Given the description of an element on the screen output the (x, y) to click on. 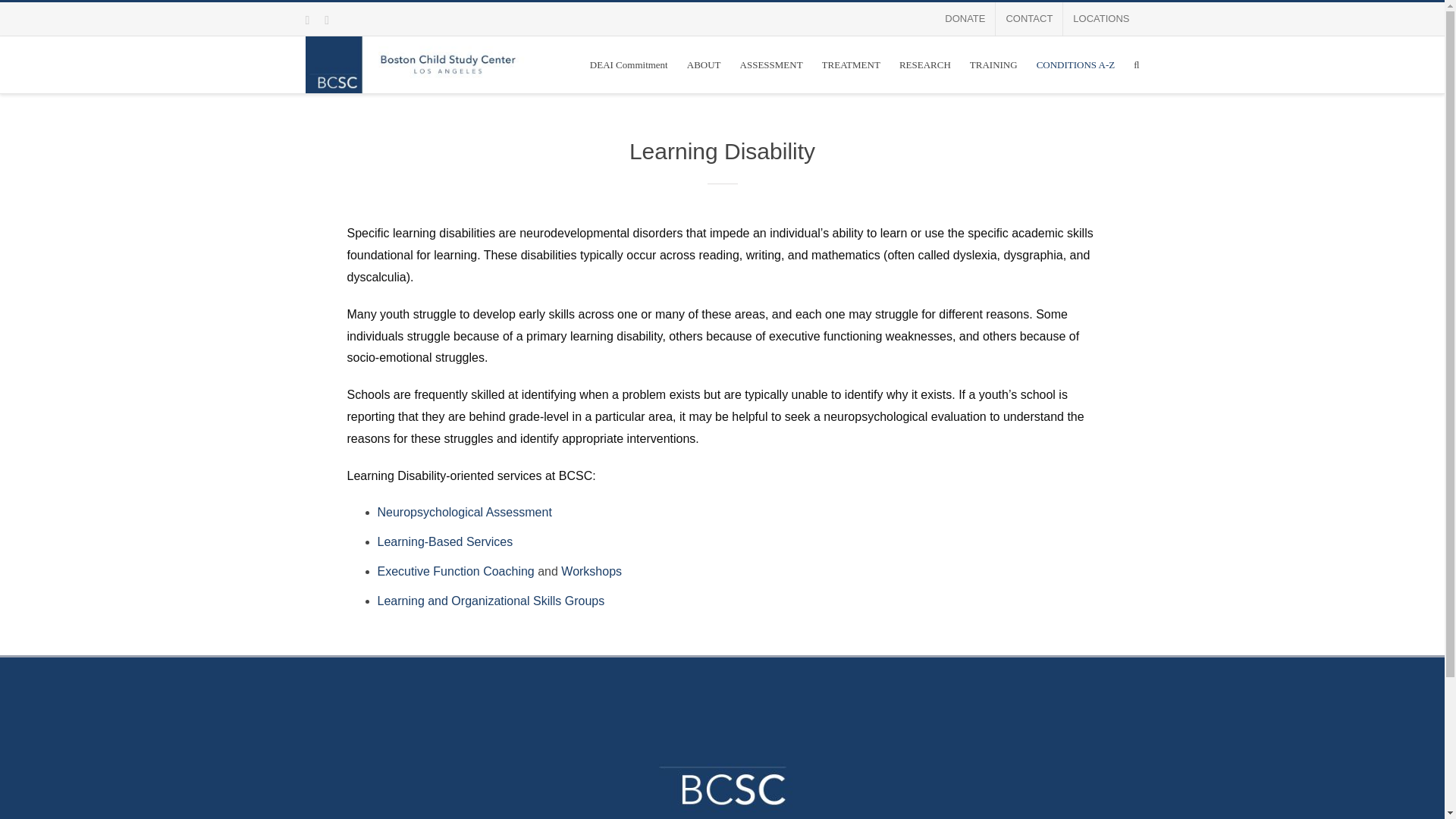
TREATMENT (851, 64)
Learning Disability (721, 178)
DONATE (964, 19)
ASSESSMENT (771, 64)
Contact Child Psychology LA (1028, 19)
CONTACT (1028, 19)
LOCATIONS (1100, 19)
DEAI Commitment (628, 64)
Child Psychology LA Locations (1100, 19)
